Given the description of an element on the screen output the (x, y) to click on. 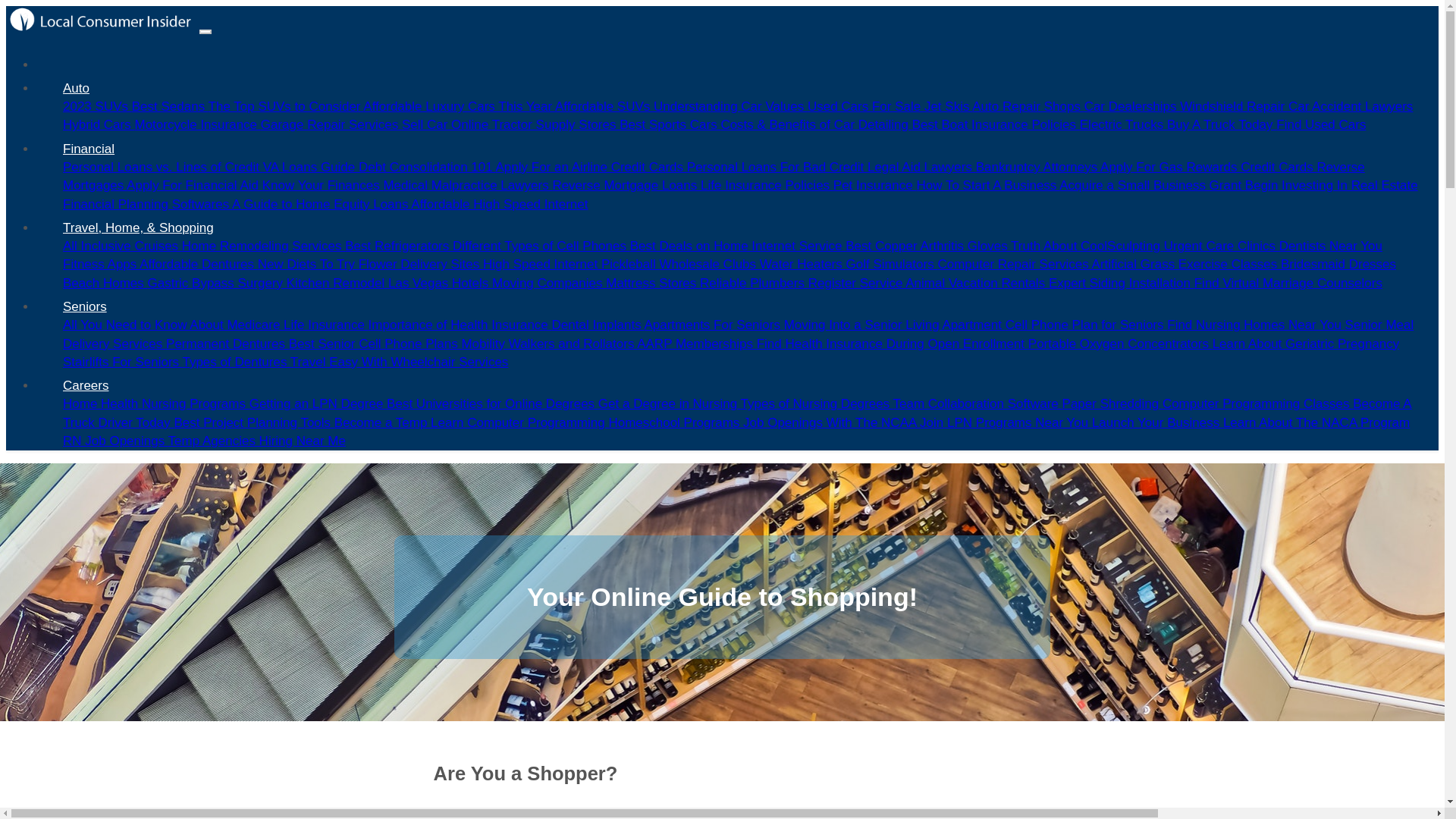
Personal Loans For Bad Credit (777, 166)
Debt Consolidation 101 (427, 166)
VA Loans Guide (310, 166)
Best Boat Insurance Policies (996, 124)
Sell Car Online (446, 124)
Apply For Financial Aid (194, 185)
2023 SUVs (97, 106)
Jet Skis (948, 106)
Garage Repair Services (330, 124)
Personal Loans vs. Lines of Credit (162, 166)
Buy A Truck Today (1221, 124)
Understanding Car Values (730, 106)
Legal Aid Lawyers (921, 166)
Financial (88, 148)
Medical Malpractice Lawyers (466, 185)
